Given the description of an element on the screen output the (x, y) to click on. 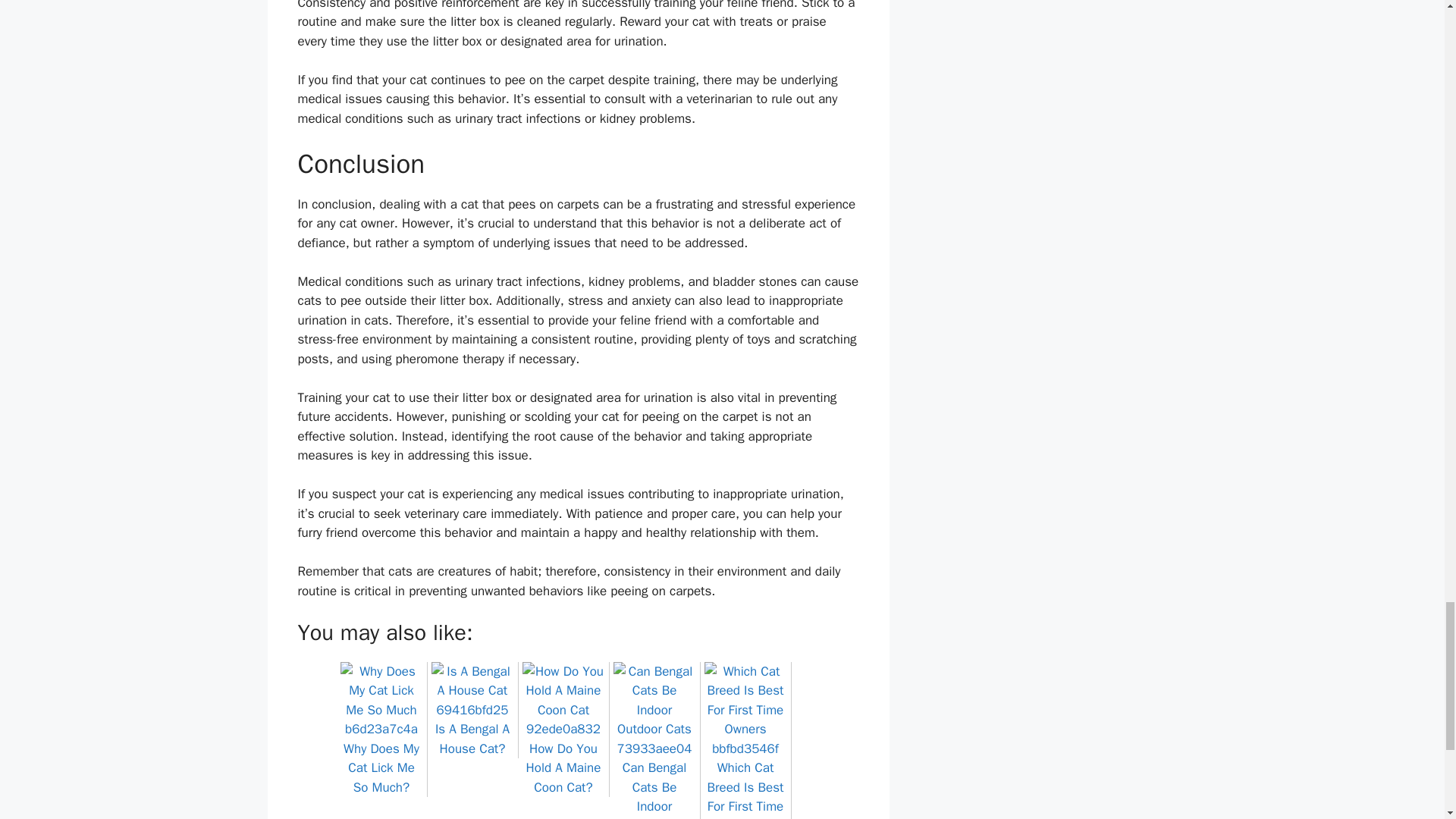
Which Cat Breed Is Best For First Time Owners? (744, 780)
Why Does My Cat Lick Me So Much? (380, 758)
How Do You Hold A Maine Coon Cat? 3 (562, 700)
Why Does My Cat Lick Me So Much? 1 (380, 700)
Is A Bengal A House Cat? (471, 728)
Is A Bengal A House Cat? 2 (471, 690)
Can Bengal Cats Be Indoor Outdoor Cats? (653, 780)
How Do You Hold A Maine Coon Cat? (562, 758)
